Given the description of an element on the screen output the (x, y) to click on. 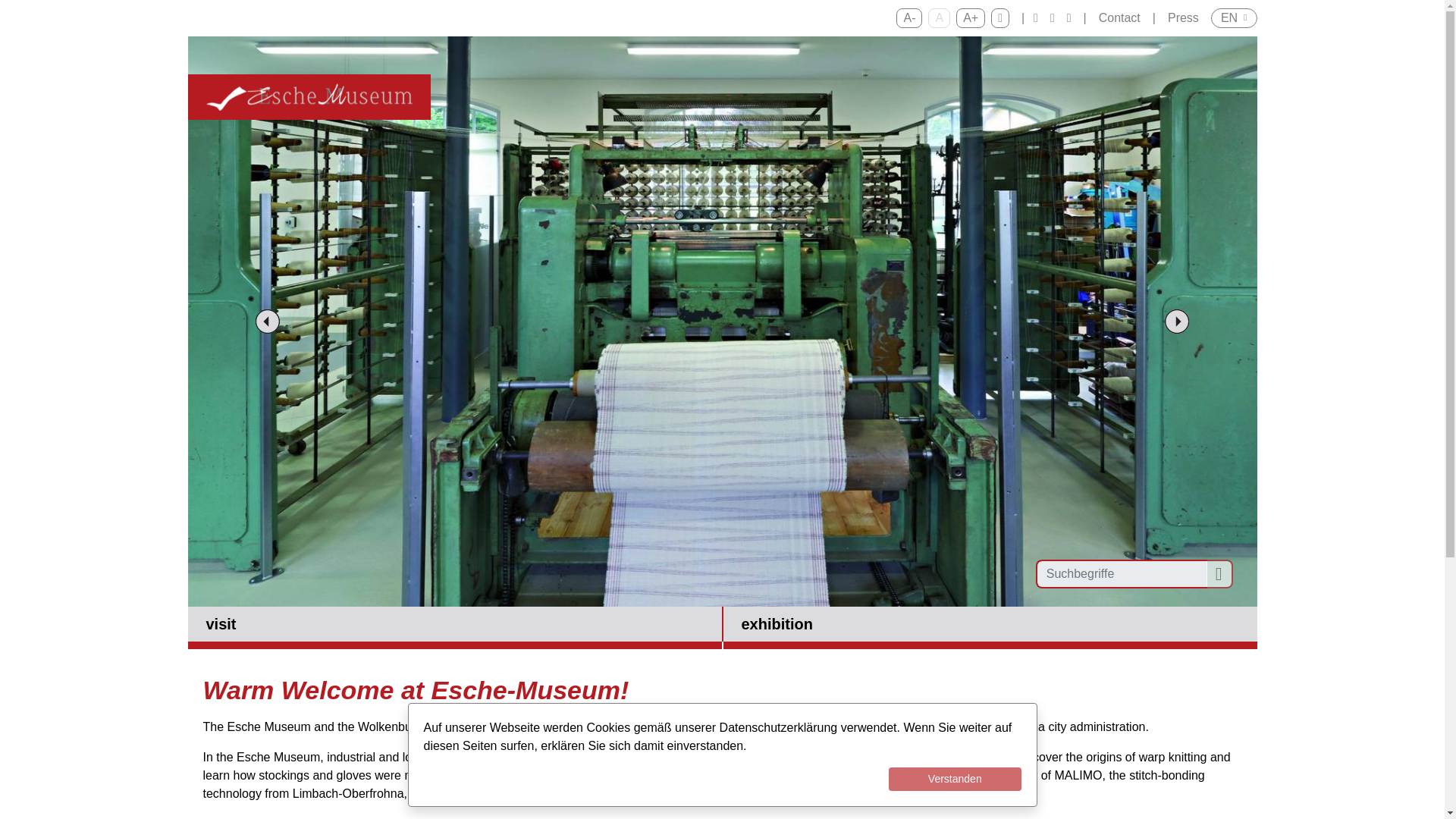
Press (1182, 17)
Contact (1119, 17)
exhibition (990, 627)
Press (1182, 17)
A (939, 17)
visit (454, 627)
Contact (1119, 17)
Verstanden (955, 779)
A- (908, 17)
